Given the description of an element on the screen output the (x, y) to click on. 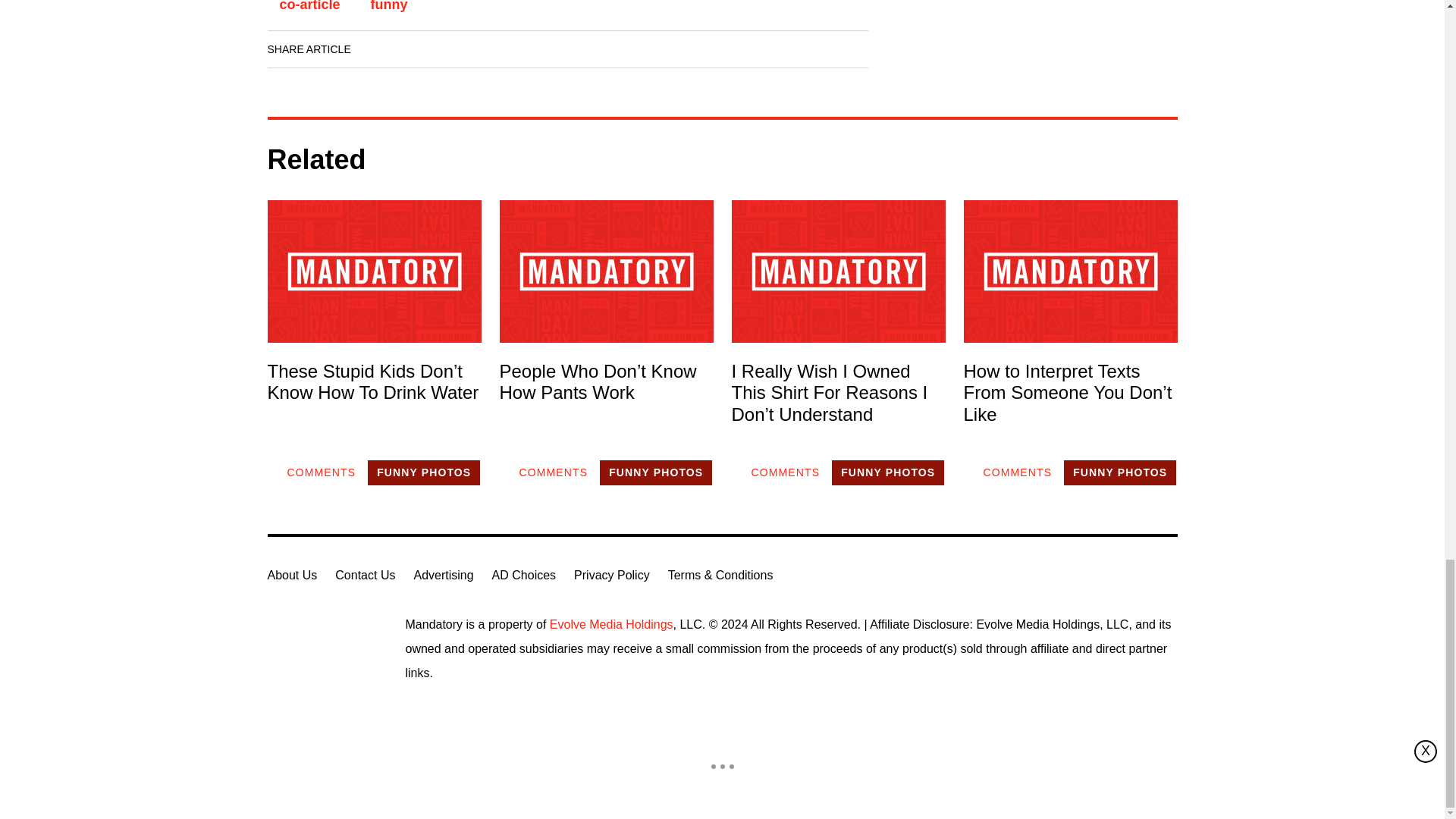
Pinterest (505, 48)
Facebook (377, 48)
LinkedIn (420, 48)
co-article (309, 9)
Twitter (463, 48)
funny (389, 9)
